Given the description of an element on the screen output the (x, y) to click on. 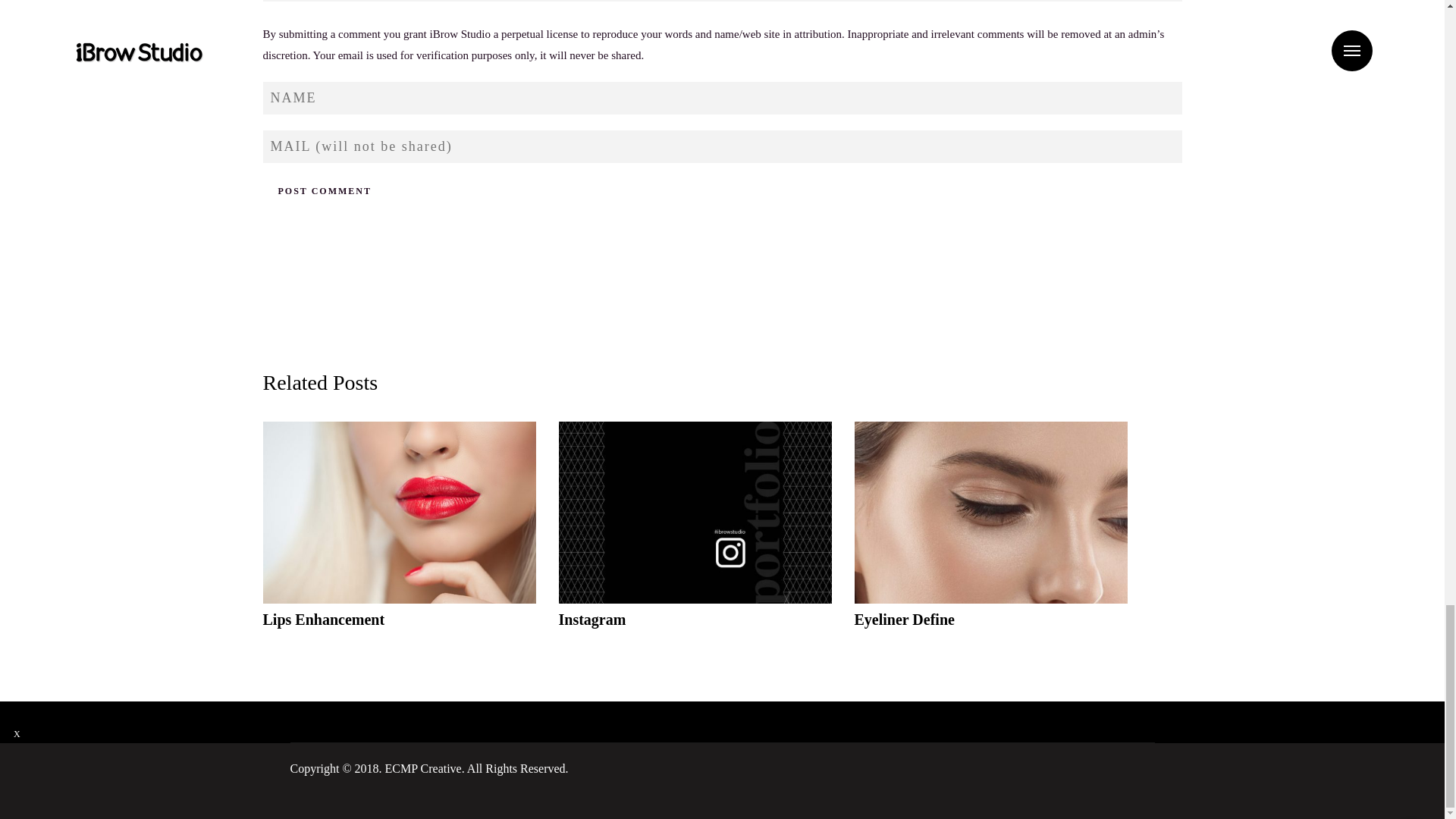
Post Comment (323, 191)
EPL (694, 534)
Lips Enhancement (989, 534)
Eyebrow Design (398, 534)
Post Comment (323, 191)
